Given the description of an element on the screen output the (x, y) to click on. 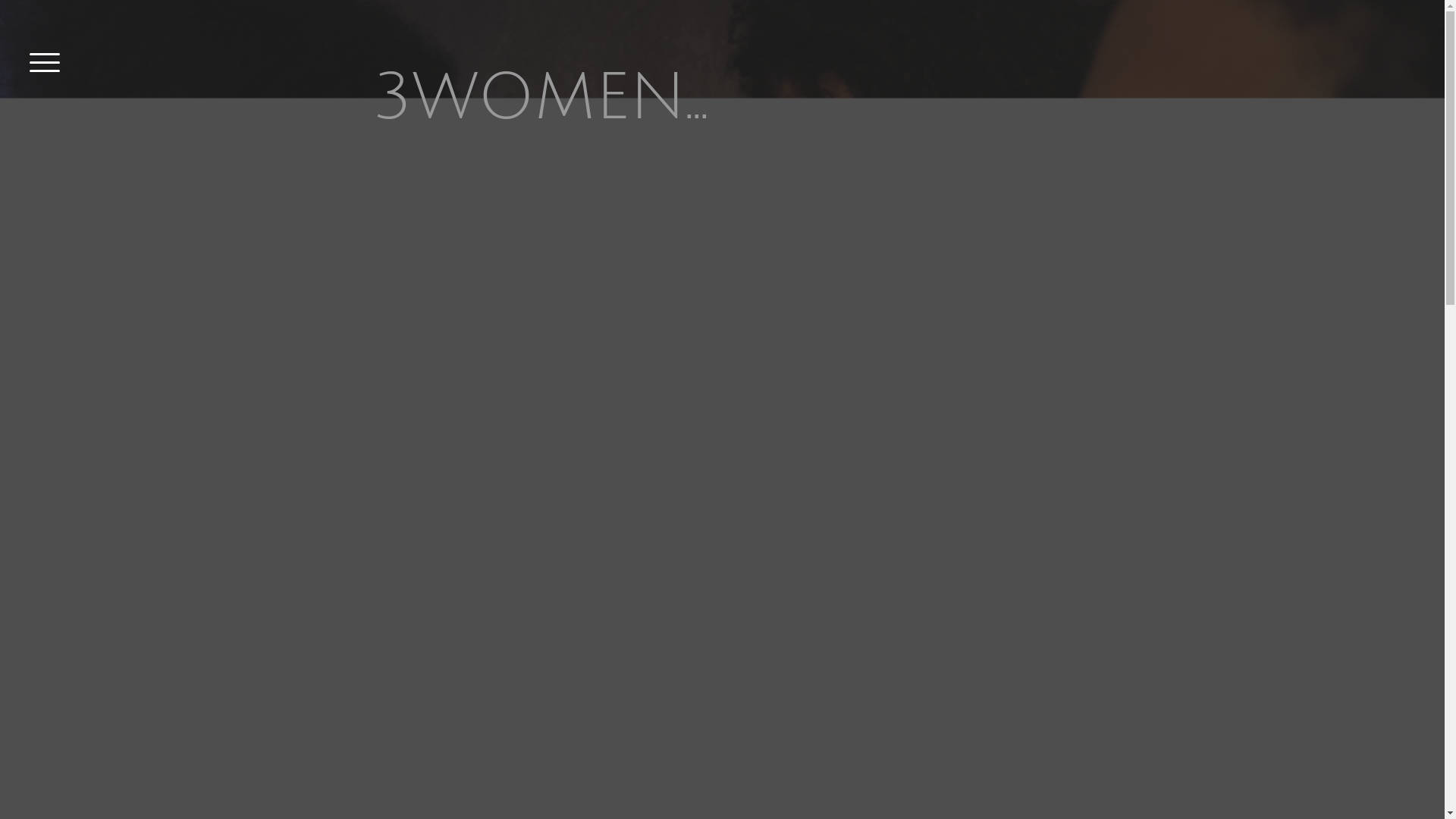
3WOMEN... Element type: text (721, 97)
